Given the description of an element on the screen output the (x, y) to click on. 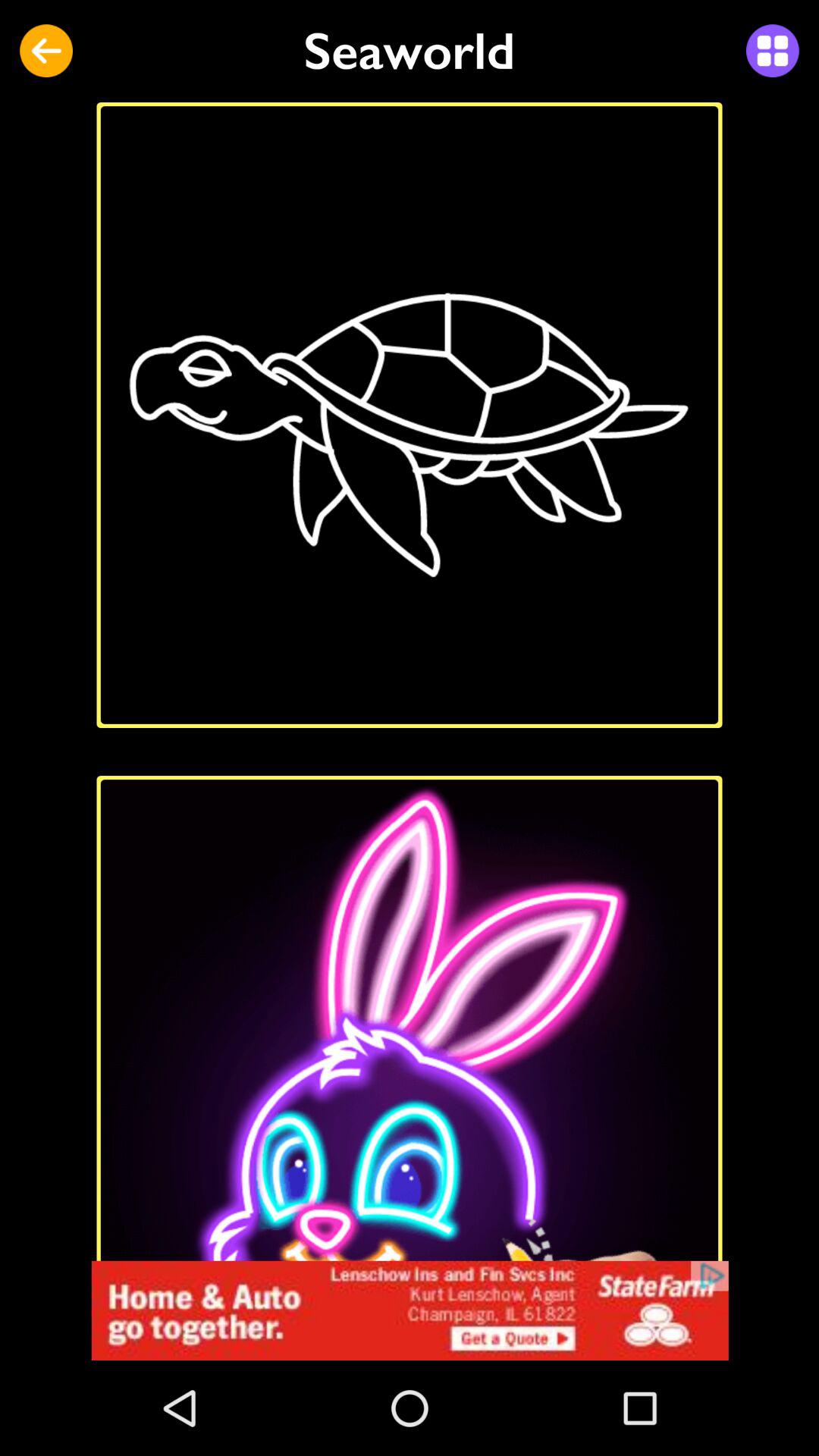
go to apps (772, 50)
